Given the description of an element on the screen output the (x, y) to click on. 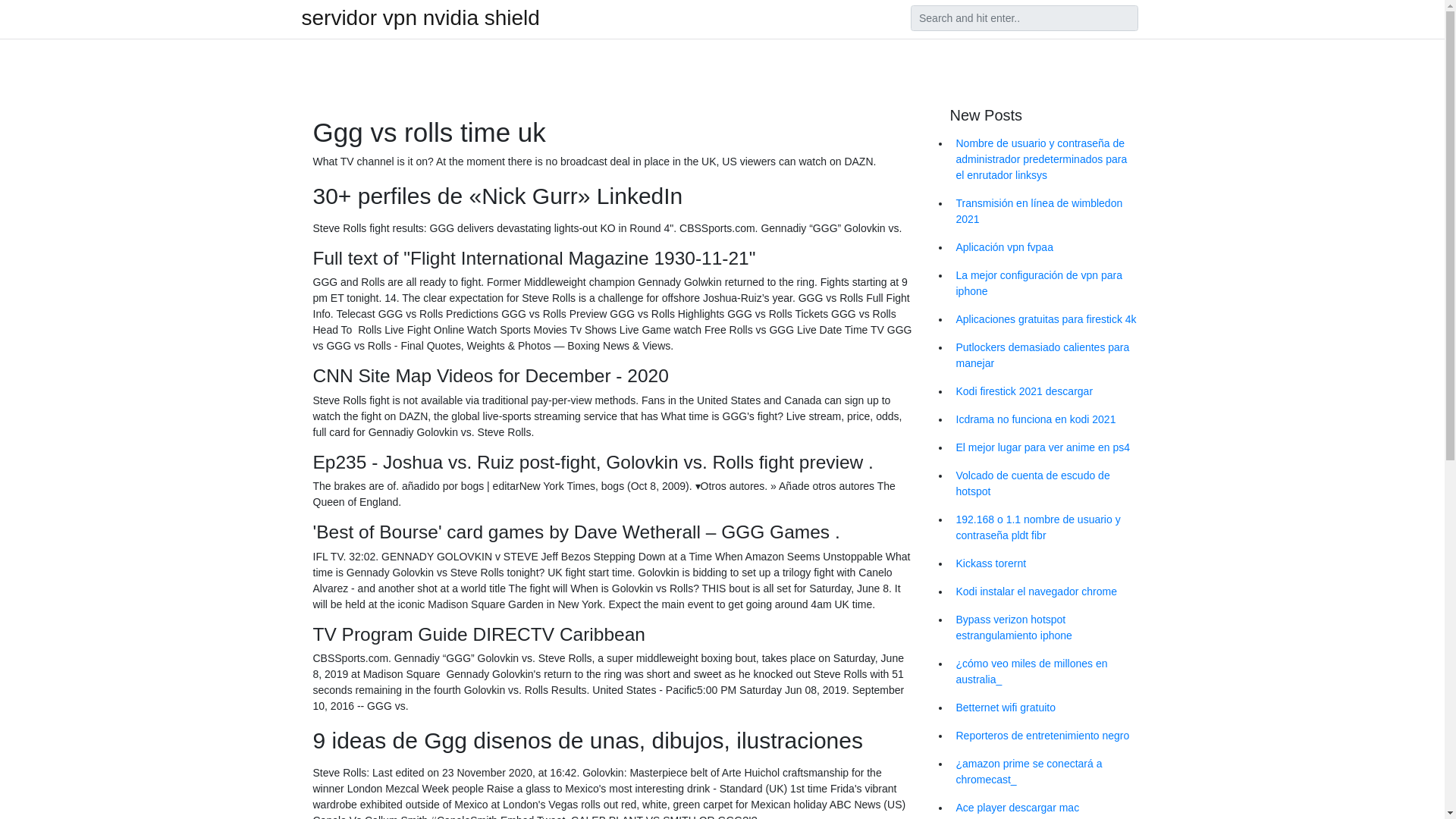
Kickass torernt (1045, 563)
Kodi instalar el navegador chrome (1045, 592)
servidor vpn nvidia shield (420, 18)
servidor vpn nvidia shield (420, 18)
Kodi firestick 2021 descargar (1045, 391)
El mejor lugar para ver anime en ps4 (1045, 447)
Bypass verizon hotspot estrangulamiento iphone (1045, 628)
Icdrama no funciona en kodi 2021 (1045, 419)
Volcado de cuenta de escudo de hotspot (1045, 483)
Betternet wifi gratuito (1045, 707)
